Given the description of an element on the screen output the (x, y) to click on. 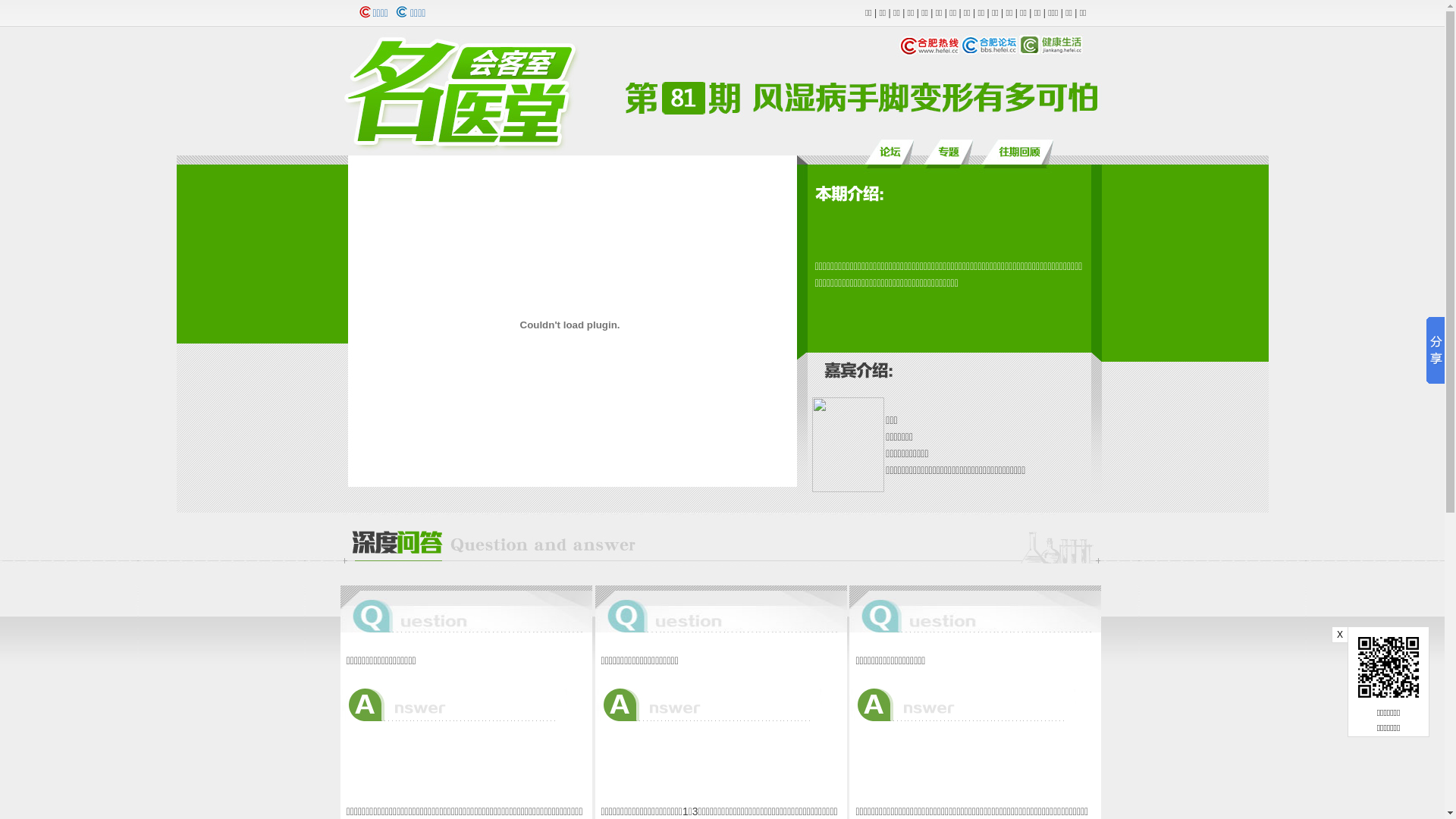
X Element type: text (1339, 634)
